Given the description of an element on the screen output the (x, y) to click on. 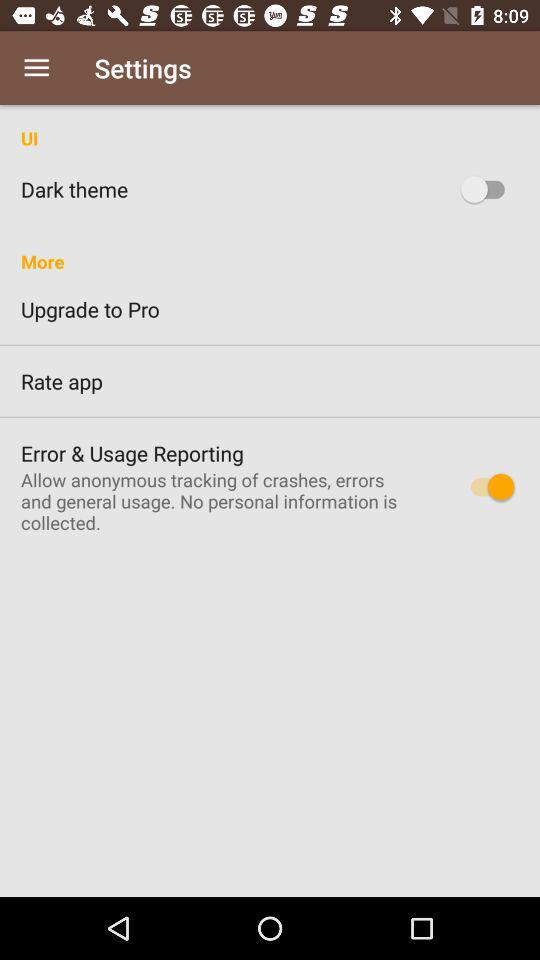
switch error and usage reporting on and off (487, 486)
